Given the description of an element on the screen output the (x, y) to click on. 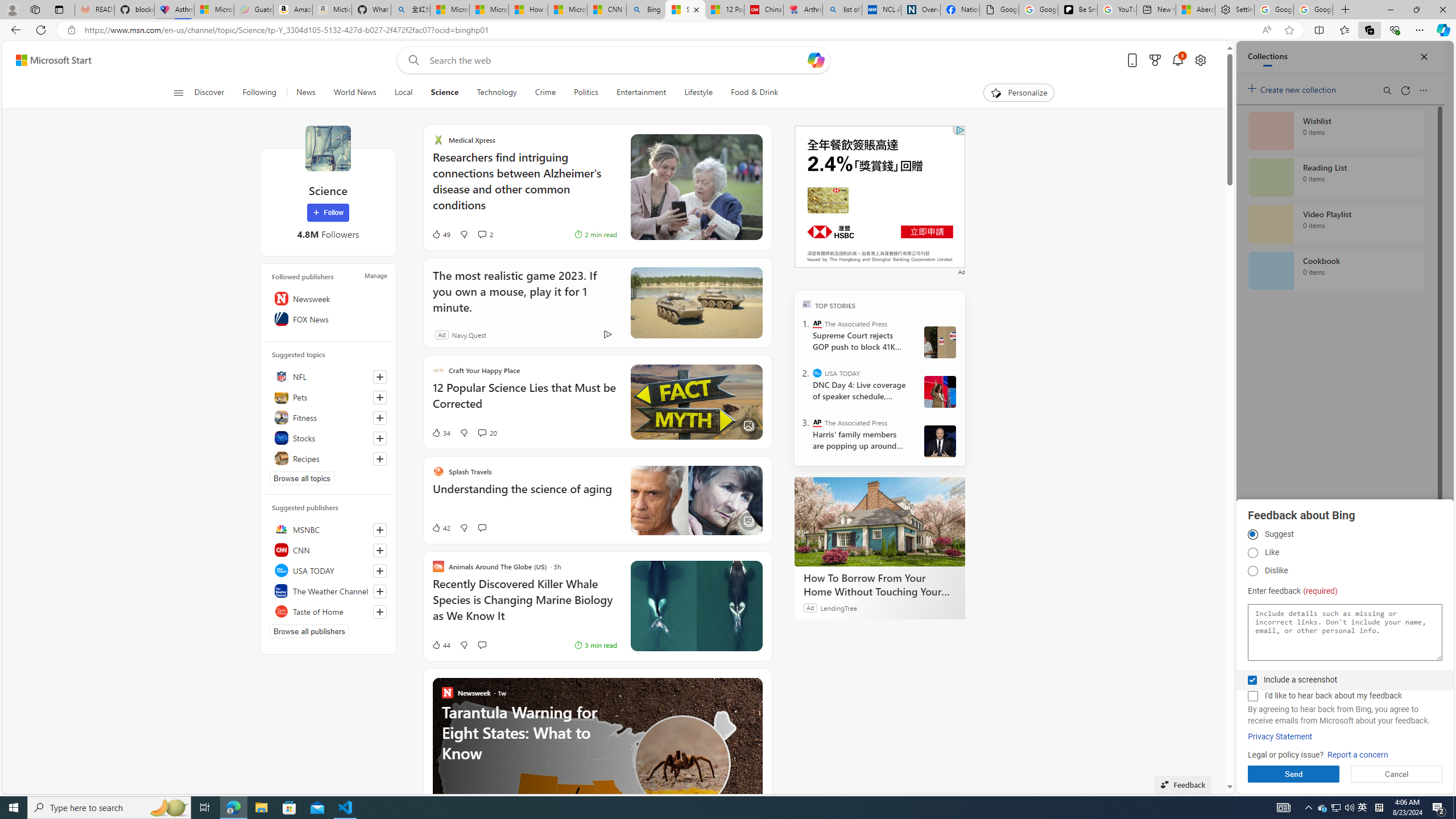
Include a screenshot Include a screenshot (1251, 679)
Privacy Statement (1280, 737)
NCL Adult Asthma Inhaler Choice Guideline (881, 9)
list of asthma inhalers uk - Search (842, 9)
Suggest Suggest (1252, 534)
Report a concern (1358, 755)
Science - MSN (685, 9)
Send (1293, 773)
